Given the description of an element on the screen output the (x, y) to click on. 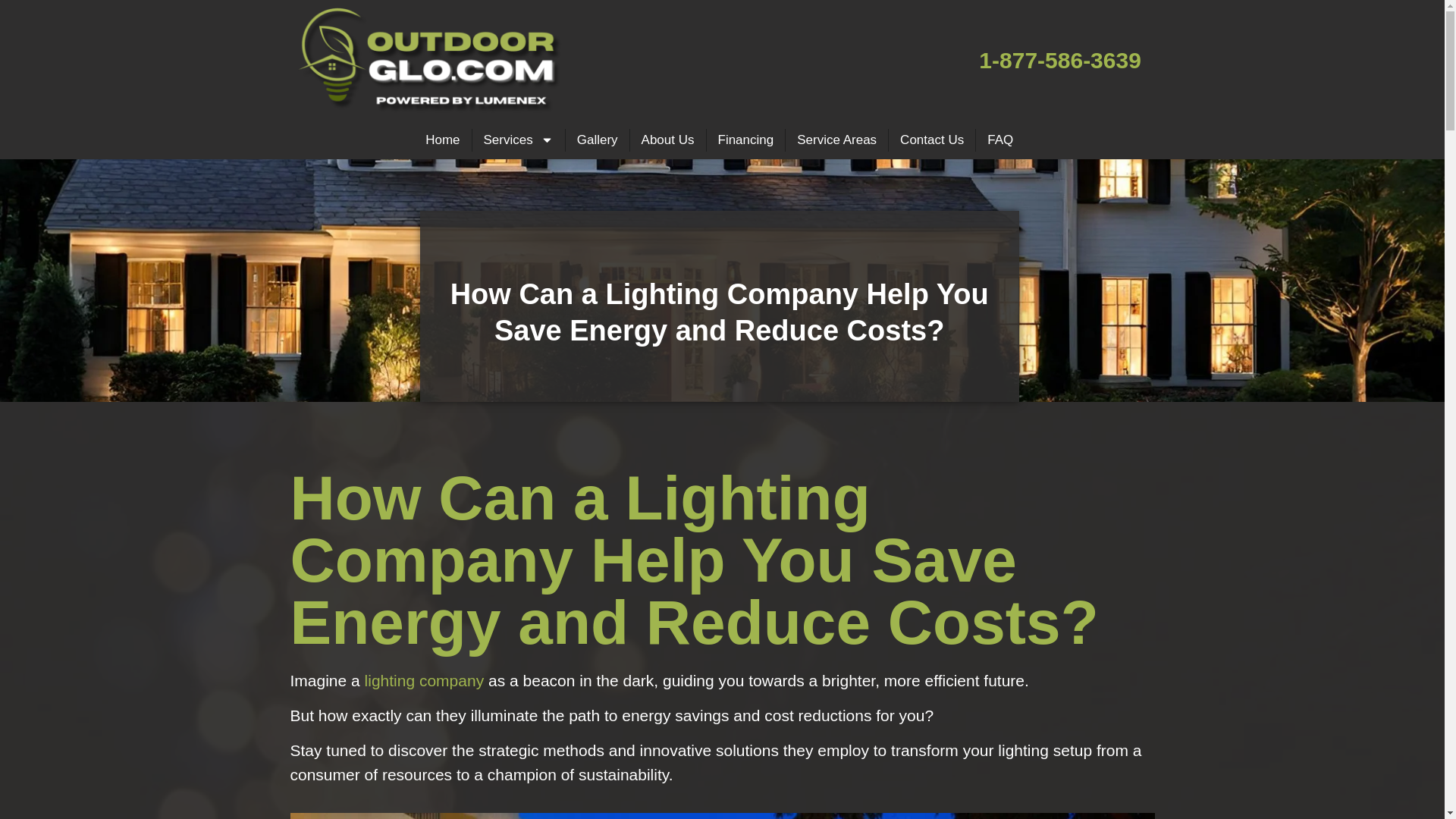
FAQ (1000, 139)
Gallery (597, 139)
Home (441, 139)
Contact Us (931, 139)
1-877-586-3639 (1059, 59)
Financing (746, 139)
Service Areas (837, 139)
lighting company (424, 680)
Services (517, 139)
About Us (668, 139)
